Given the description of an element on the screen output the (x, y) to click on. 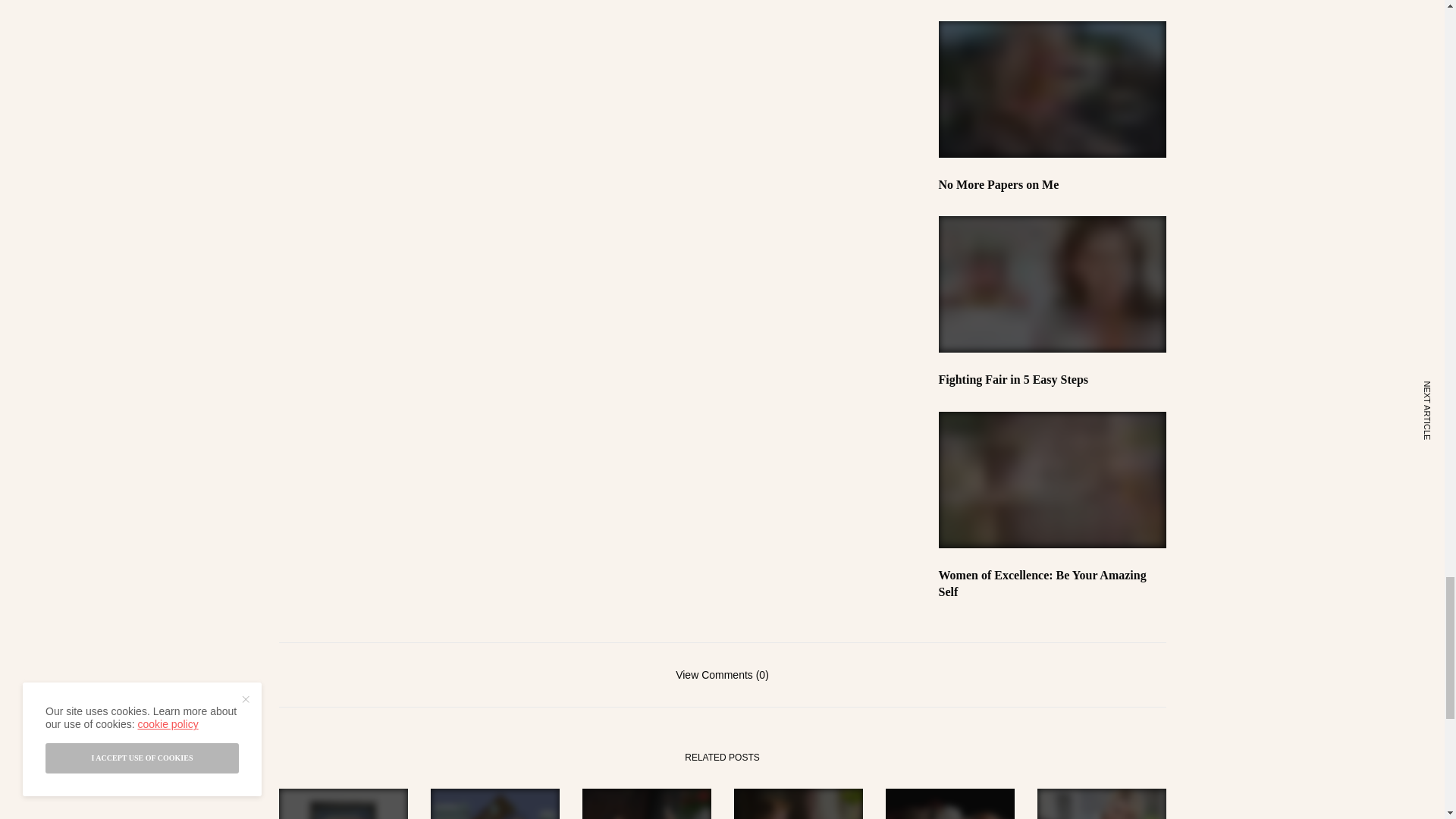
No More Papers on Me (1052, 184)
Women of Excellence: Be Your Amazing Self (1052, 584)
Fighting Fair in 5 Easy Steps (1052, 379)
